Given the description of an element on the screen output the (x, y) to click on. 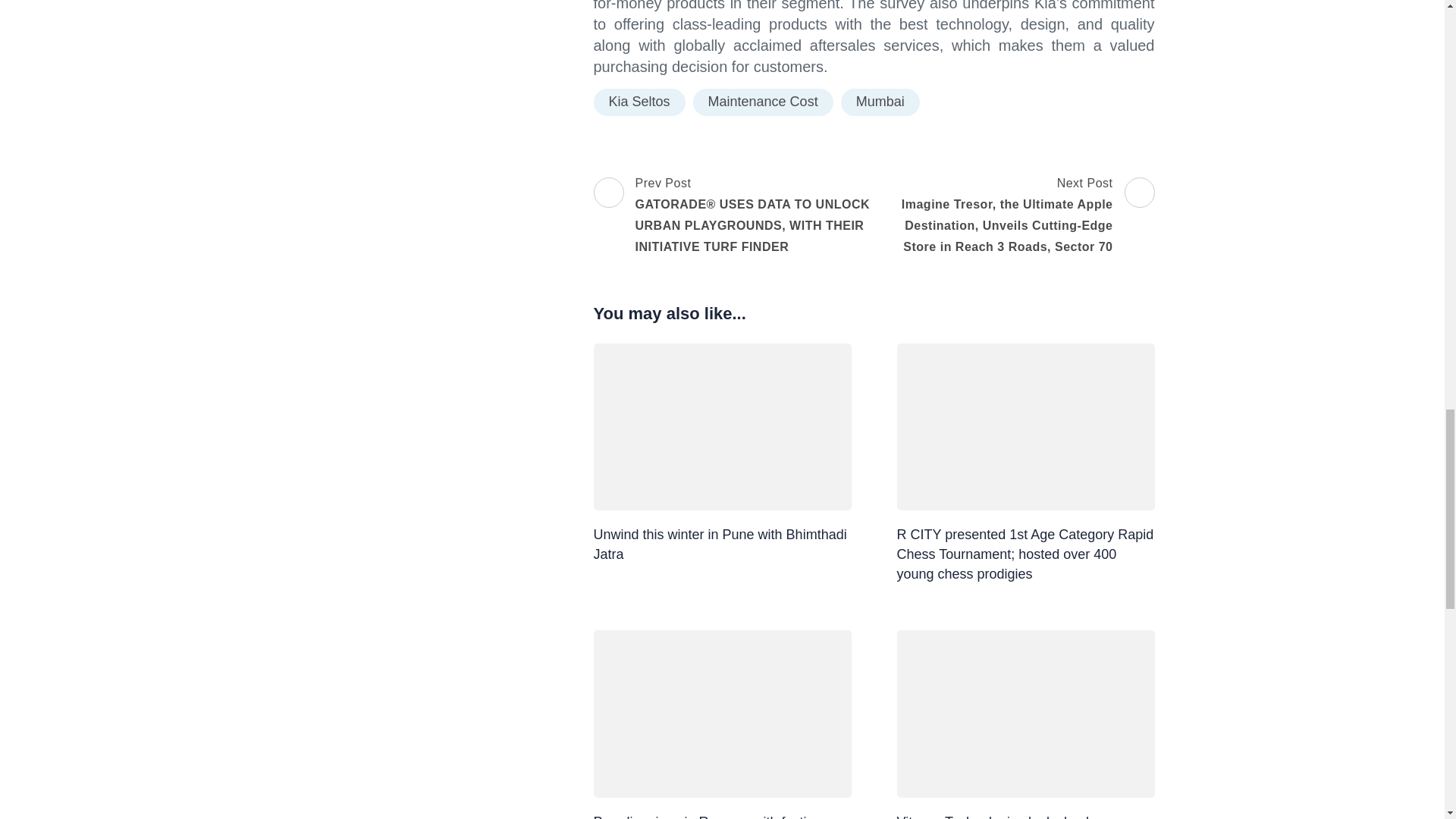
Kia Seltos (638, 102)
Unwind this winter in Pune with Bhimthadi Jatra (718, 544)
Maintenance Cost (762, 102)
Mumbai (880, 102)
